Given the description of an element on the screen output the (x, y) to click on. 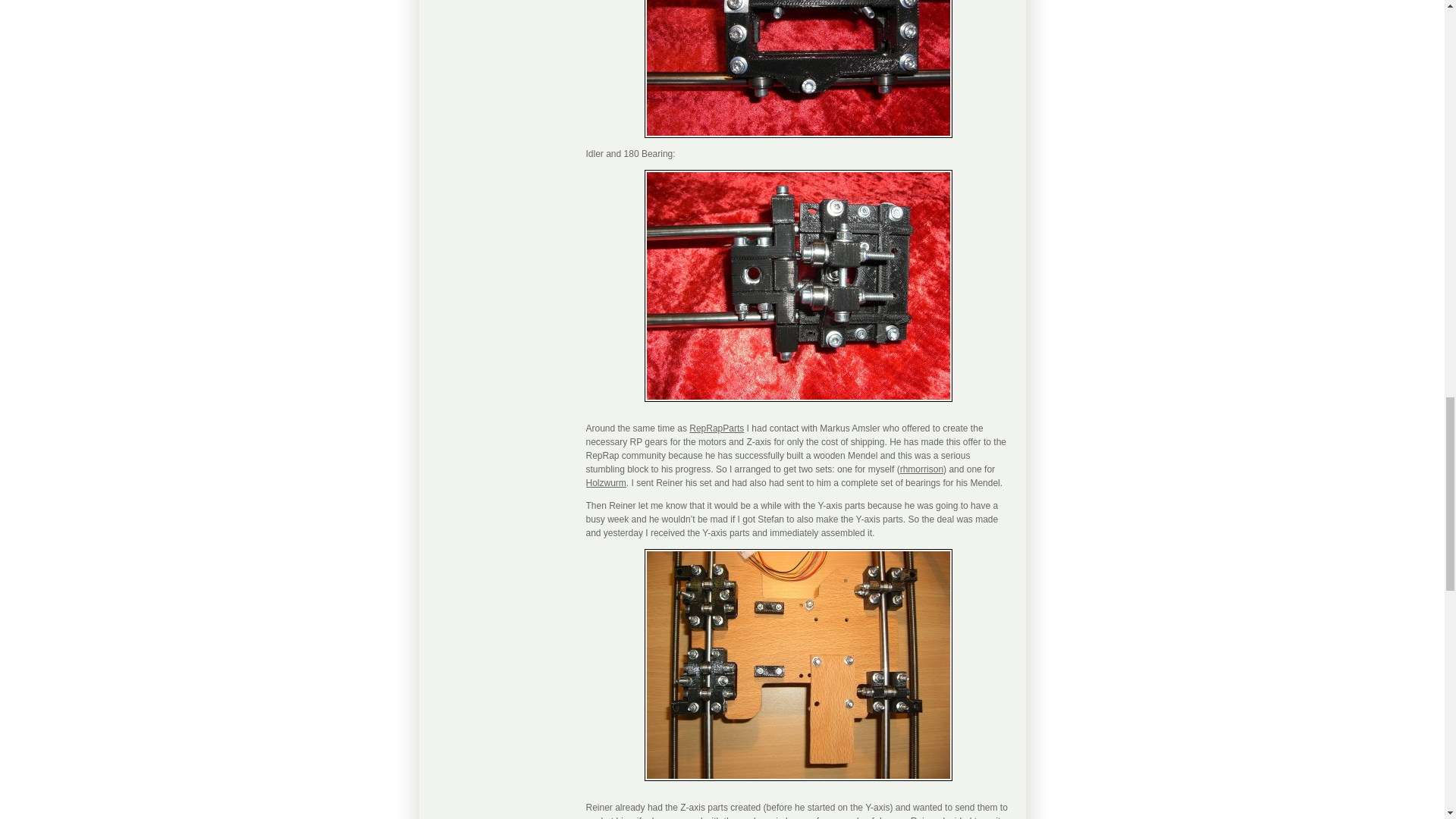
RepRapParts (716, 428)
rhmorrison (921, 469)
Holzwurm (605, 482)
